Given the description of an element on the screen output the (x, y) to click on. 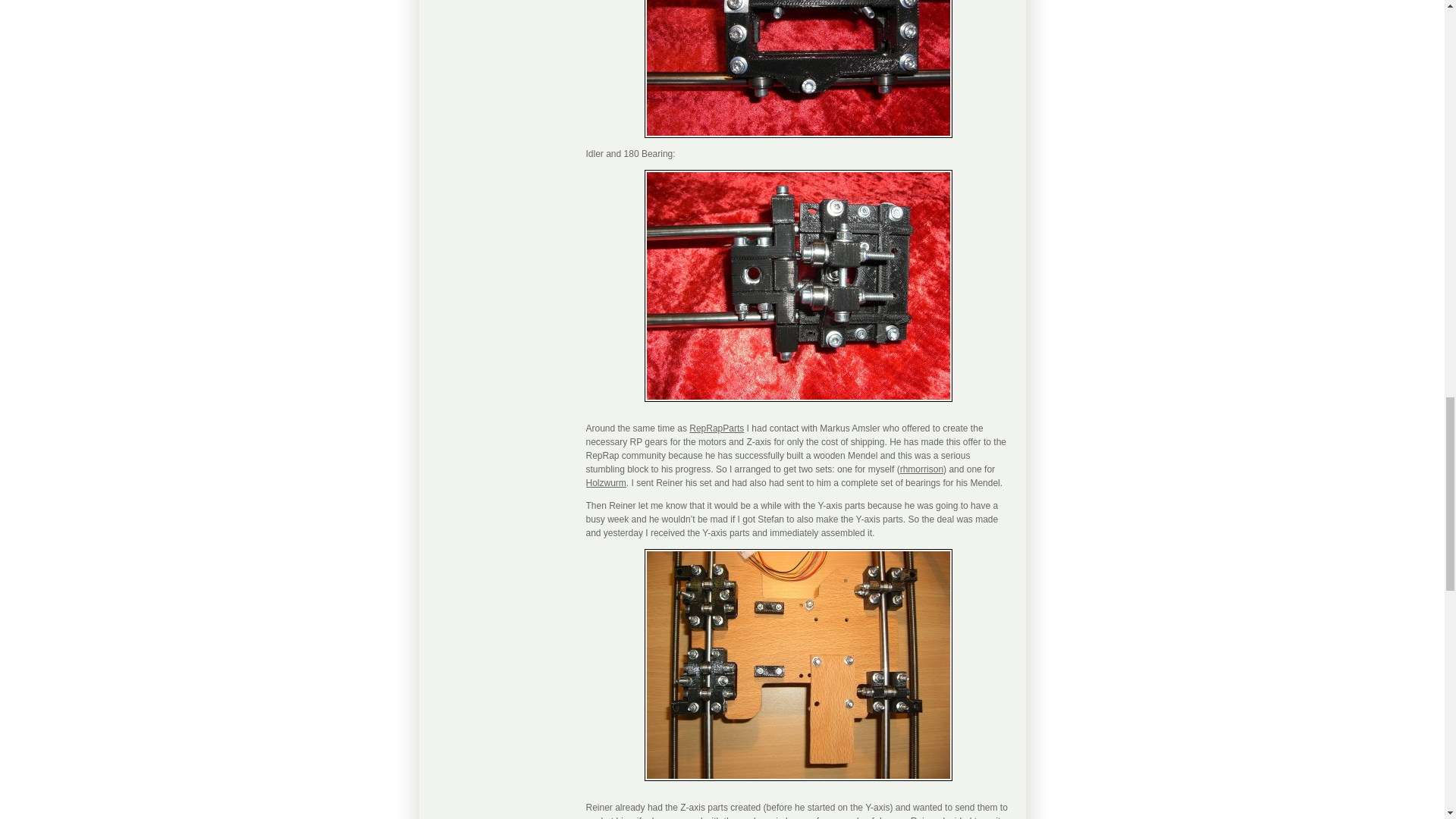
RepRapParts (716, 428)
rhmorrison (921, 469)
Holzwurm (605, 482)
